Given the description of an element on the screen output the (x, y) to click on. 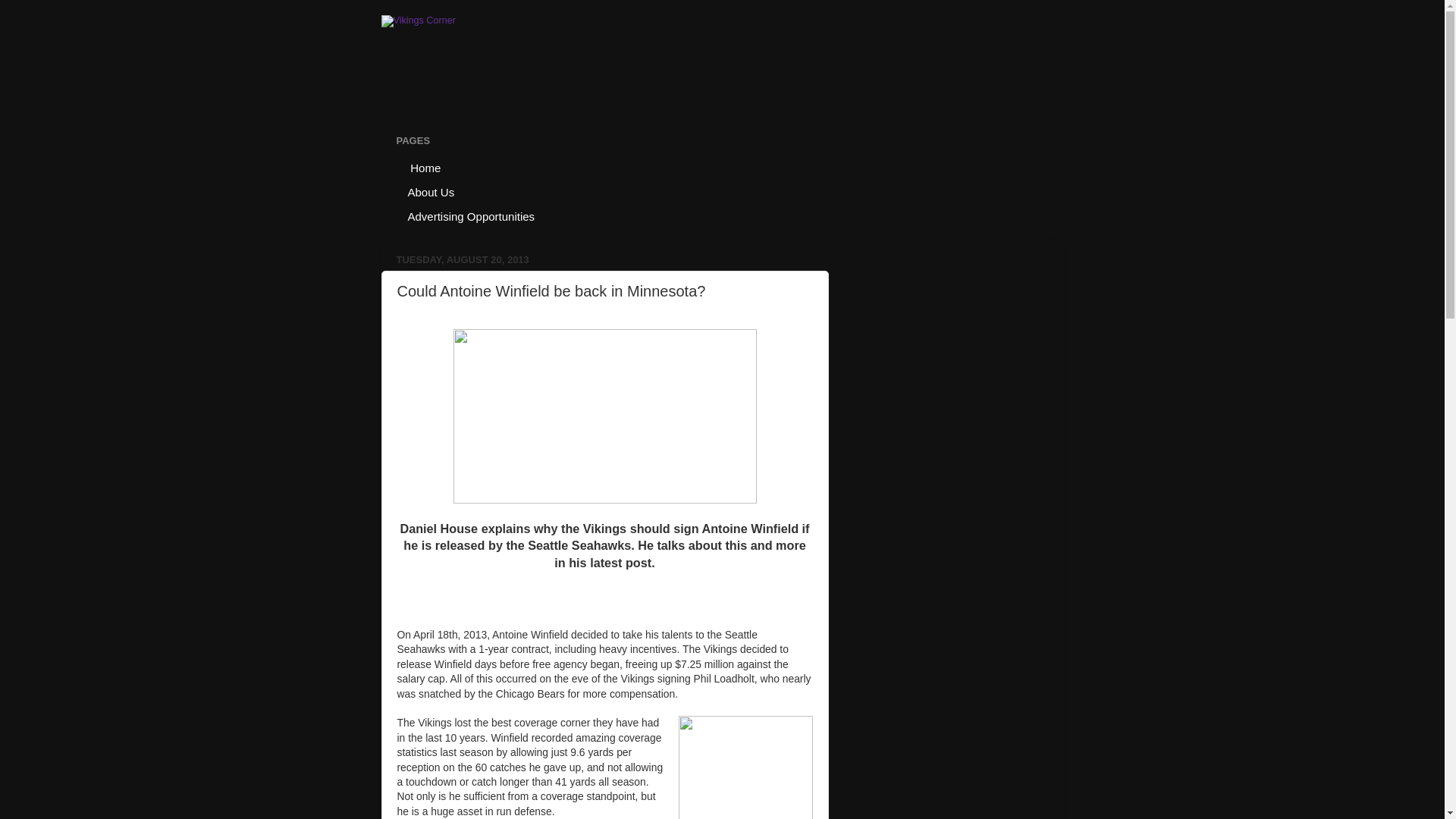
Advertising Opportunities (471, 215)
Home (424, 167)
winfield1 (745, 767)
About Us (430, 191)
